Given the description of an element on the screen output the (x, y) to click on. 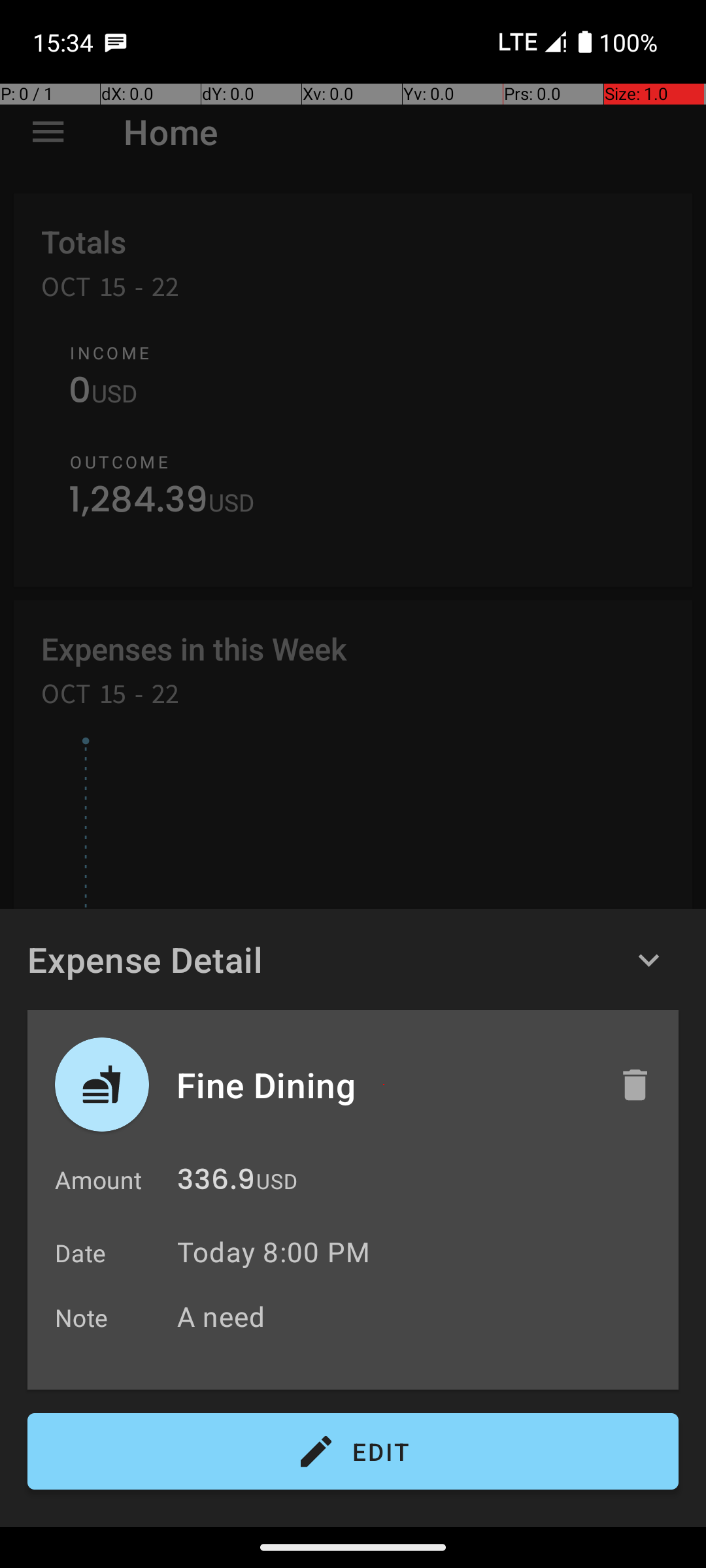
Fine Dining Element type: android.widget.TextView (383, 1084)
336.9 Element type: android.widget.TextView (215, 1182)
Today 8:00 PM Element type: android.widget.TextView (273, 1251)
